Given the description of an element on the screen output the (x, y) to click on. 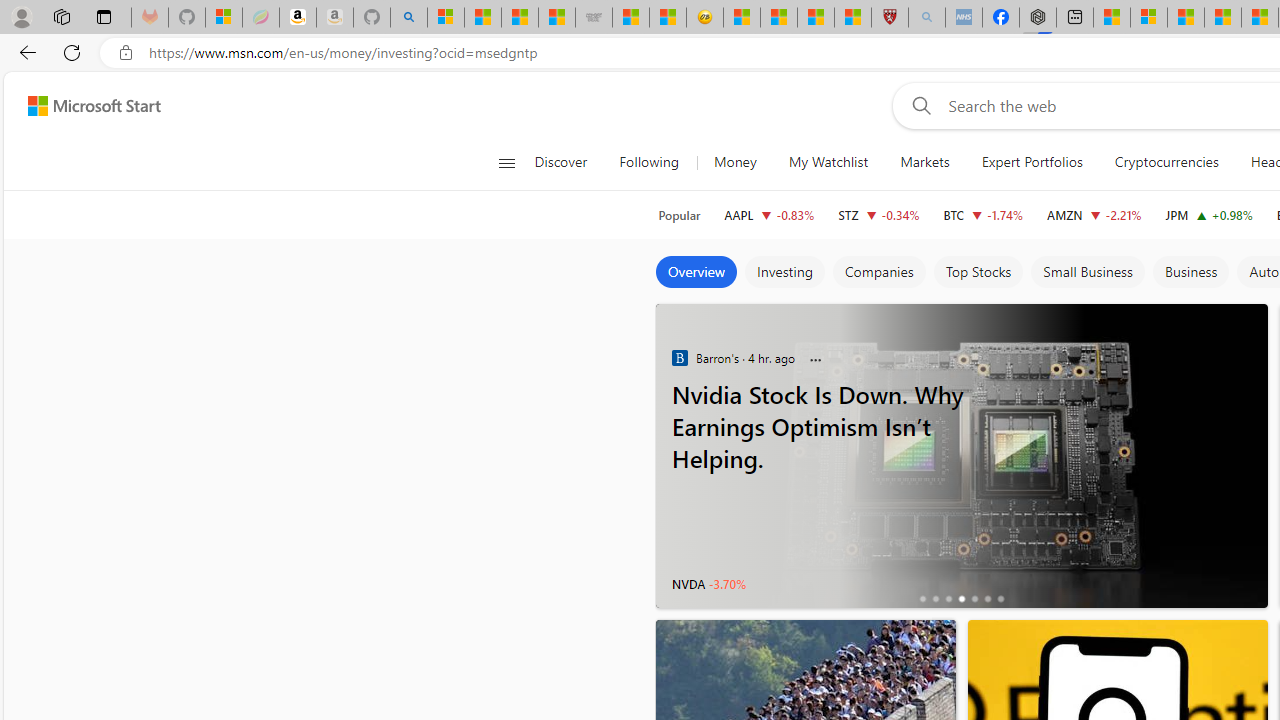
Small Business (1087, 272)
View site information (125, 53)
Cryptocurrencies (1165, 162)
Web search (917, 105)
Money (734, 162)
list of asthma inhalers uk - Search - Sleeping (926, 17)
Overview (696, 272)
Markets (925, 162)
Tab actions menu (104, 16)
